Given the description of an element on the screen output the (x, y) to click on. 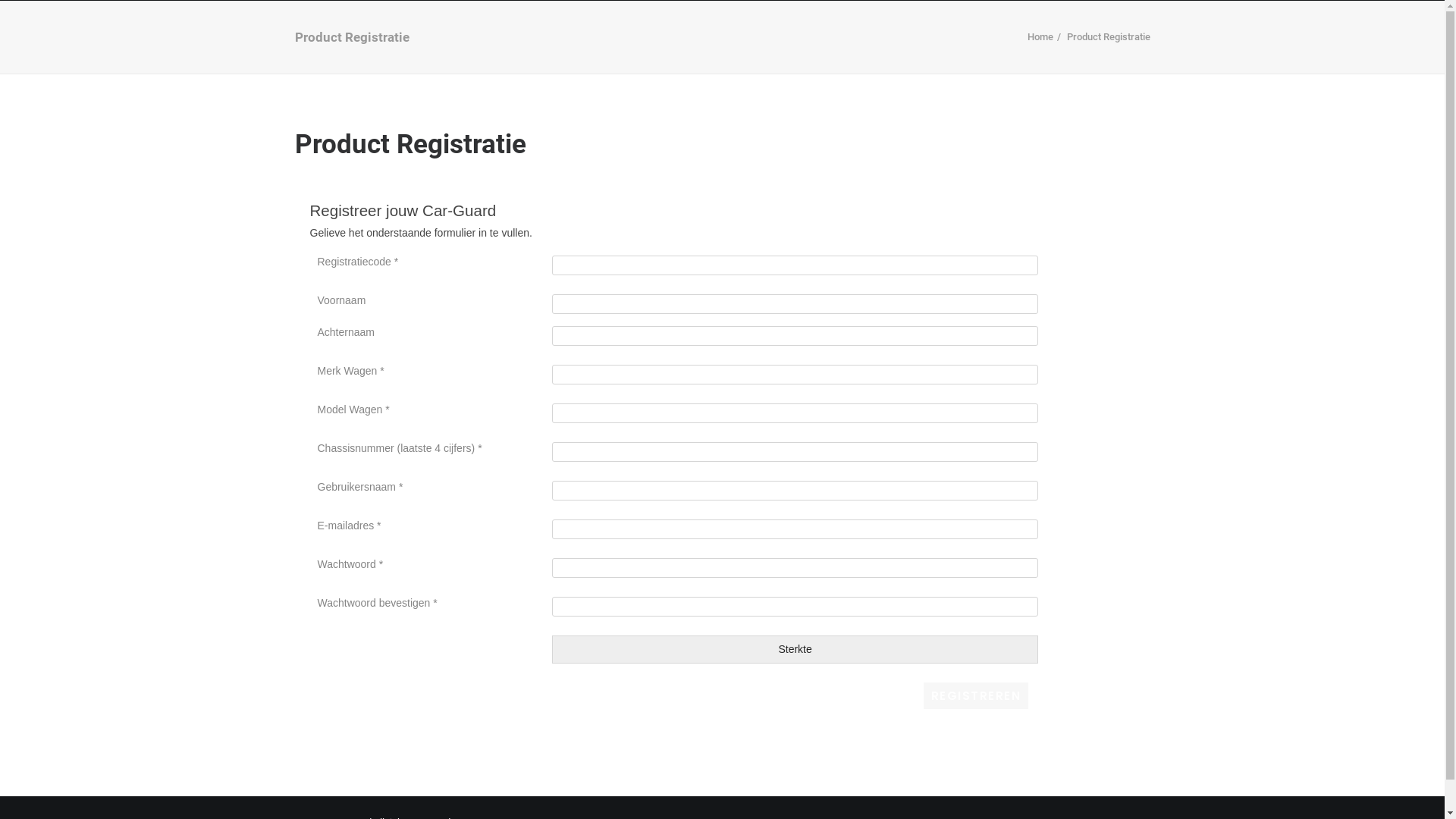
Registreren Element type: text (976, 695)
Home Element type: text (1039, 36)
